Given the description of an element on the screen output the (x, y) to click on. 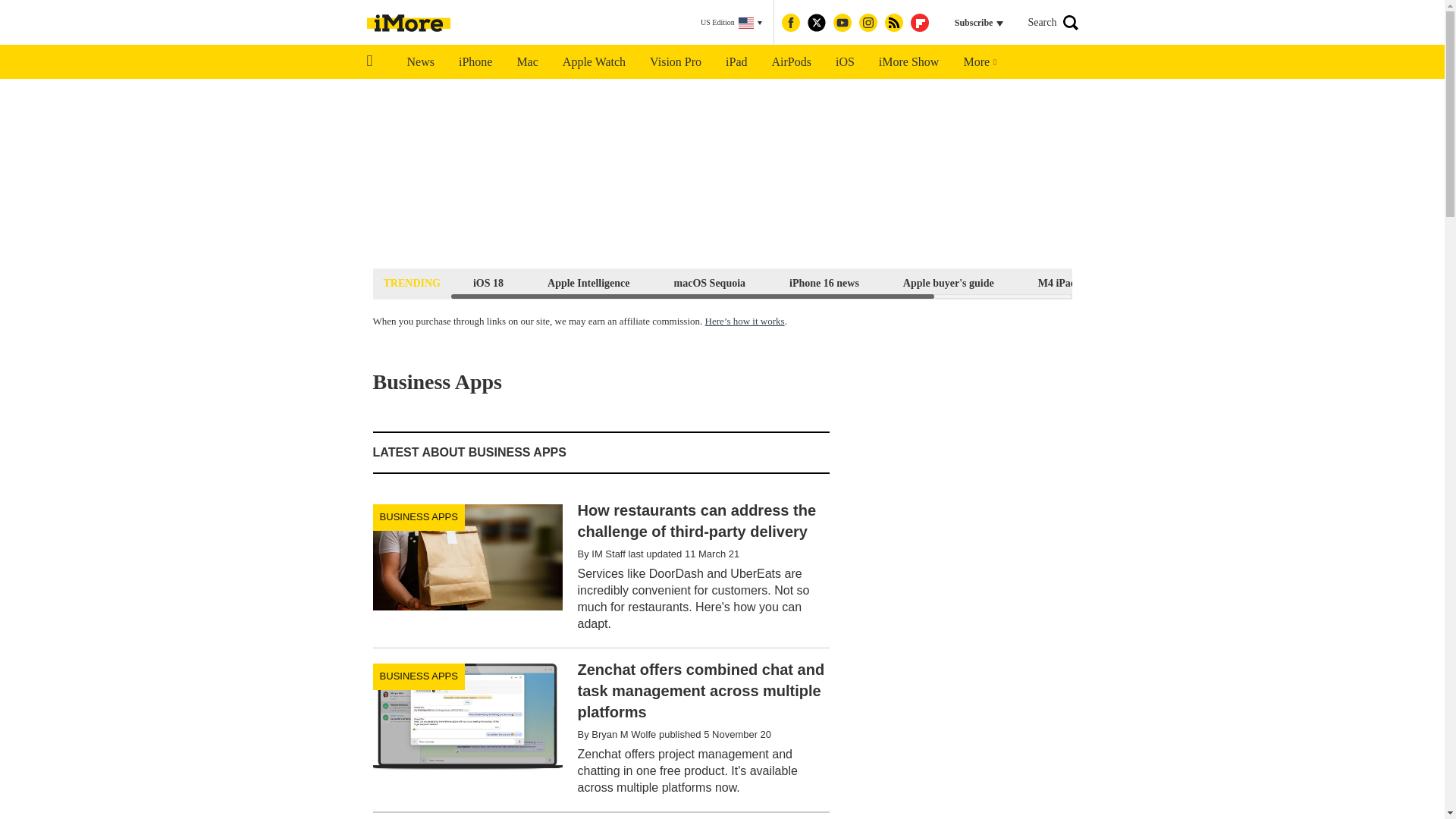
iMore Show (909, 61)
AirPods (792, 61)
iPad (735, 61)
Mac (526, 61)
Apple Watch (593, 61)
News (419, 61)
iPhone (474, 61)
iOS (845, 61)
Vision Pro (675, 61)
US Edition (731, 22)
